Given the description of an element on the screen output the (x, y) to click on. 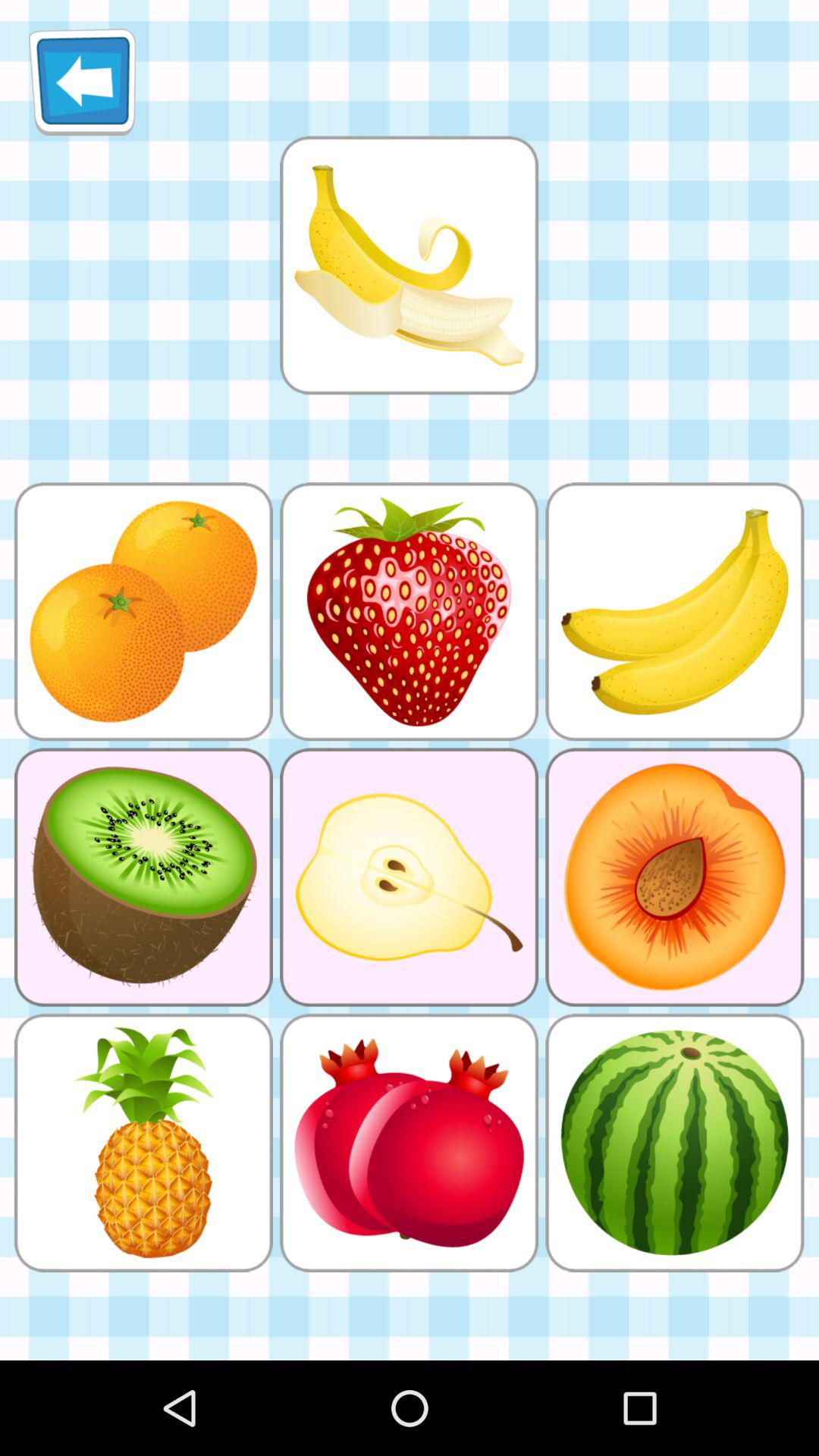
select image (409, 265)
